Given the description of an element on the screen output the (x, y) to click on. 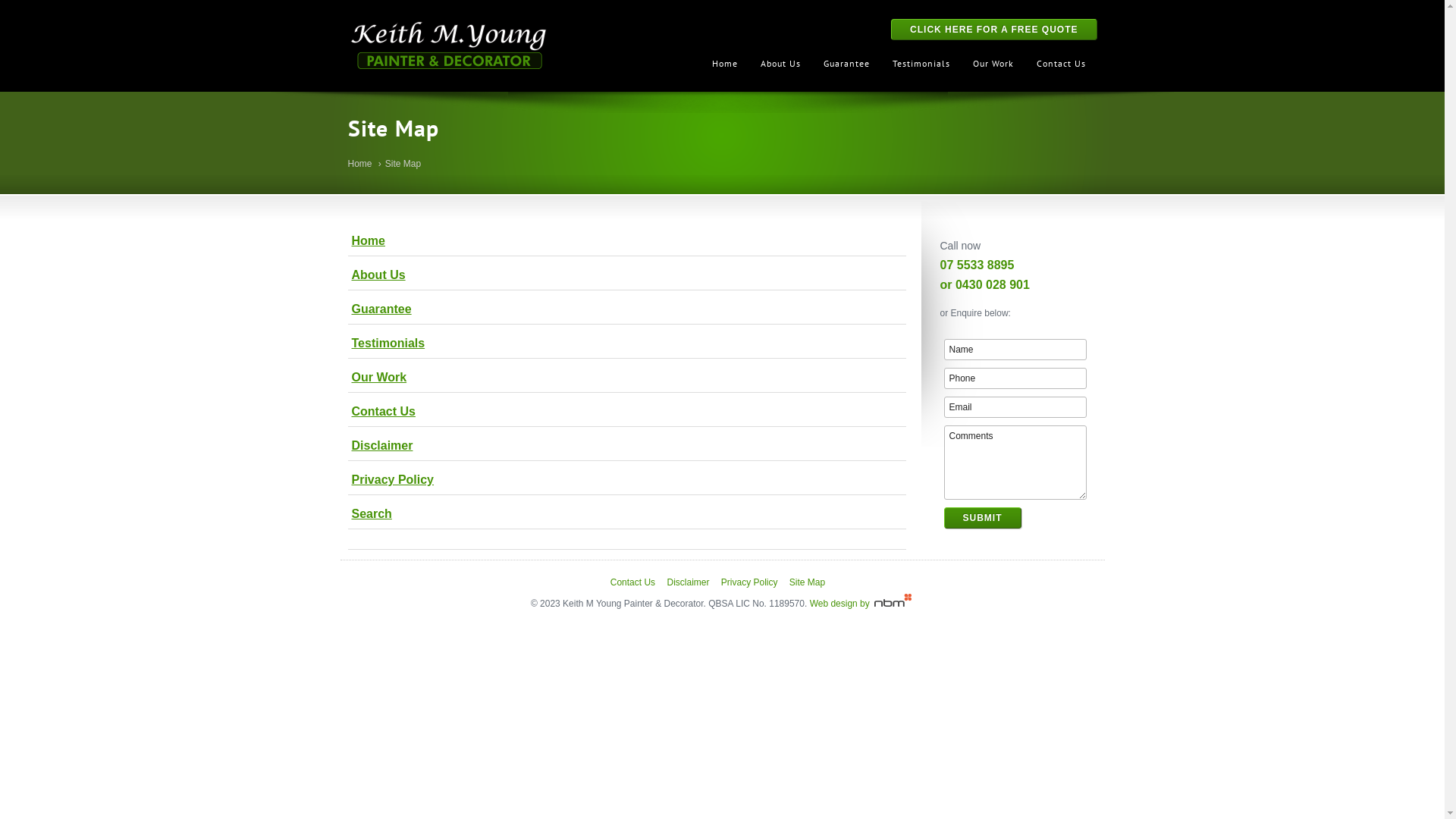
Contact Us Element type: text (632, 582)
Site Map Element type: text (402, 163)
Contact Us Element type: text (1060, 61)
Testimonials Element type: text (920, 61)
Disclaimer Element type: text (626, 446)
Name Element type: hover (1014, 349)
Keith M Young Painter & Decorator - Element type: text (447, 45)
Testimonials Element type: text (626, 343)
Web design by Element type: text (861, 603)
About Us Element type: text (780, 61)
Site Map Element type: text (807, 582)
Home Element type: text (359, 163)
Privacy Policy Element type: text (749, 582)
Guarantee Element type: text (845, 61)
Email Element type: hover (1014, 406)
Disclaimer Element type: text (687, 582)
About Us Element type: text (626, 275)
Our Work Element type: text (993, 61)
Our Work Element type: text (626, 377)
Submit Element type: text (981, 517)
Contact Us Element type: text (626, 411)
Search Element type: text (626, 514)
CLICK HERE FOR A FREE QUOTE Element type: text (993, 29)
Home Element type: text (626, 241)
Privacy Policy Element type: text (626, 480)
Home Element type: text (724, 61)
Phone Element type: hover (1014, 378)
Guarantee Element type: text (626, 309)
